Given the description of an element on the screen output the (x, y) to click on. 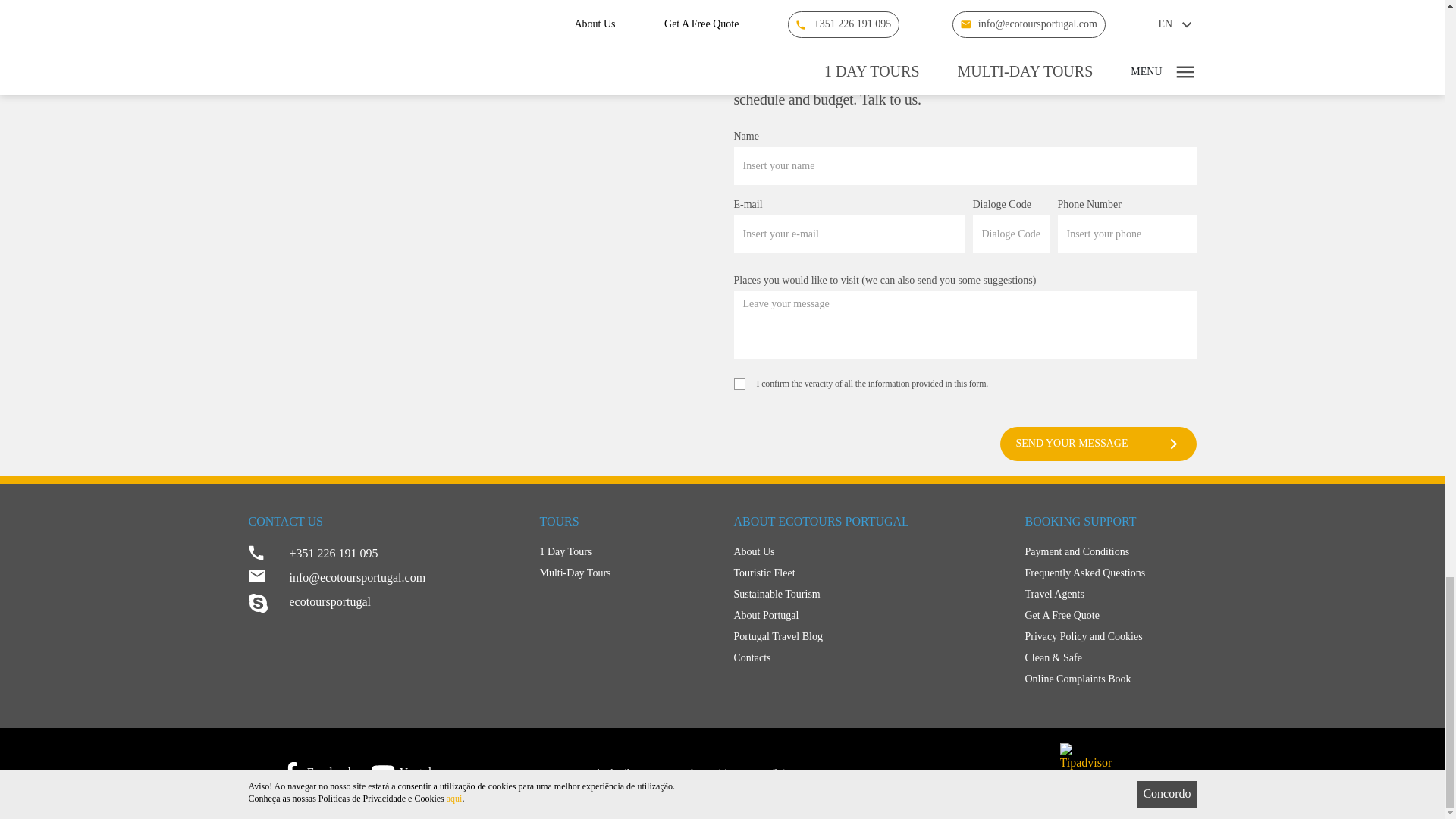
About Us (868, 551)
Online Complaints Book (1110, 679)
Sustainable Tourism (868, 594)
1 (739, 383)
Travel Agents (1110, 594)
Get A Free Quote (1110, 615)
Contacts (868, 658)
Touristic Fleet (868, 572)
Privacy Policy and Cookies (1110, 636)
Multi-Day Tours (625, 572)
ecotoursportugal (382, 601)
Payment and Conditions (1110, 551)
Portugal Travel Blog (868, 636)
Frequently Asked Questions (1110, 572)
About Portugal (868, 615)
